Given the description of an element on the screen output the (x, y) to click on. 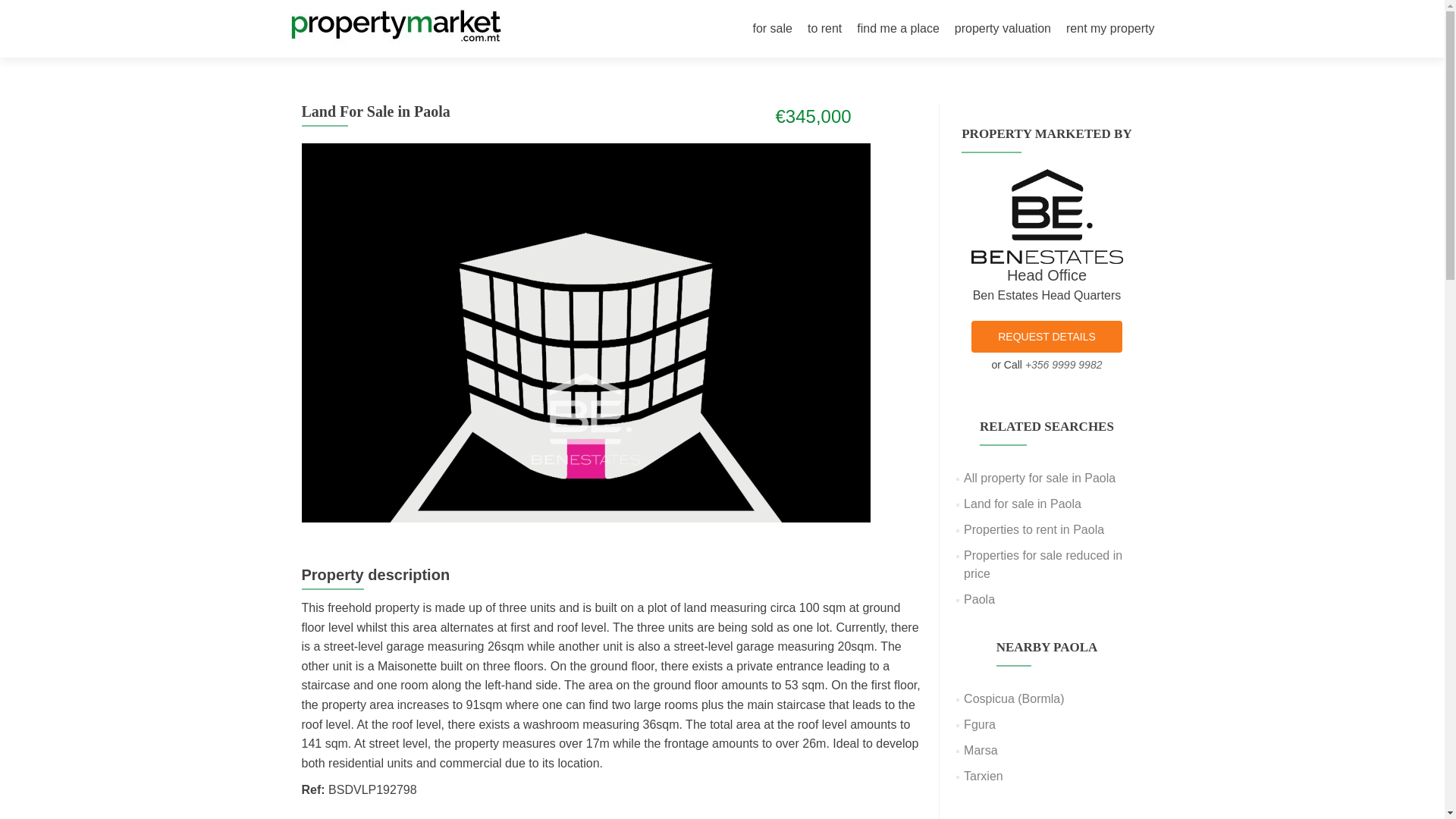
find me a place (898, 28)
rent my property (1109, 28)
Marsa (980, 749)
to rent (824, 28)
property valuation (1003, 28)
Tarxien (983, 775)
Paola (978, 599)
Properties to rent in Paola (1033, 529)
All property for sale in Paola (1039, 477)
Properties for sale reduced in price (1042, 563)
REQUEST DETAILS (1046, 336)
Fgura (979, 724)
for sale (772, 28)
Land for sale in Paola (1022, 503)
